Given the description of an element on the screen output the (x, y) to click on. 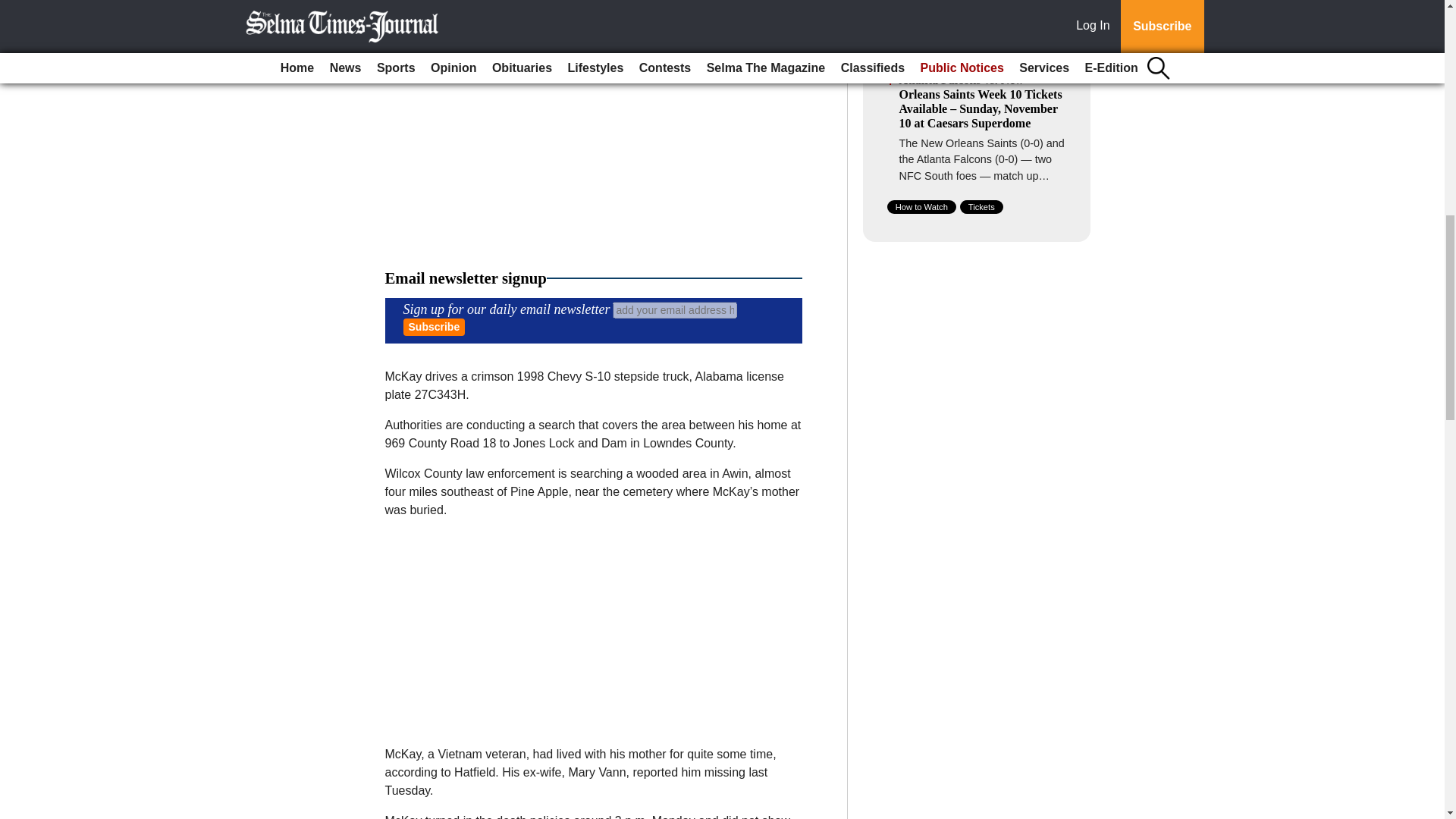
Subscribe (434, 326)
Subscribe (434, 326)
